Given the description of an element on the screen output the (x, y) to click on. 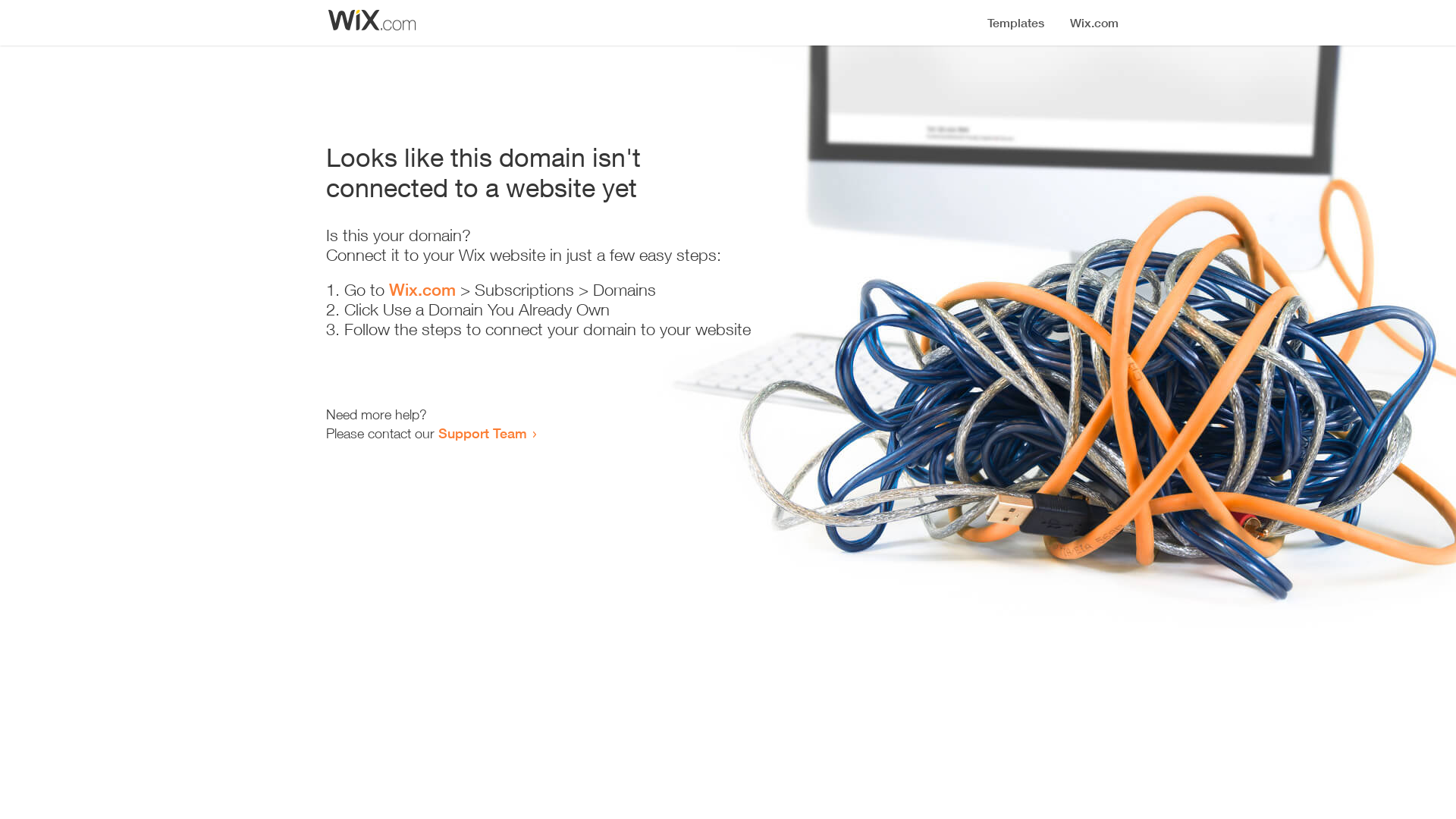
Support Team Element type: text (482, 432)
Wix.com Element type: text (422, 289)
